Given the description of an element on the screen output the (x, y) to click on. 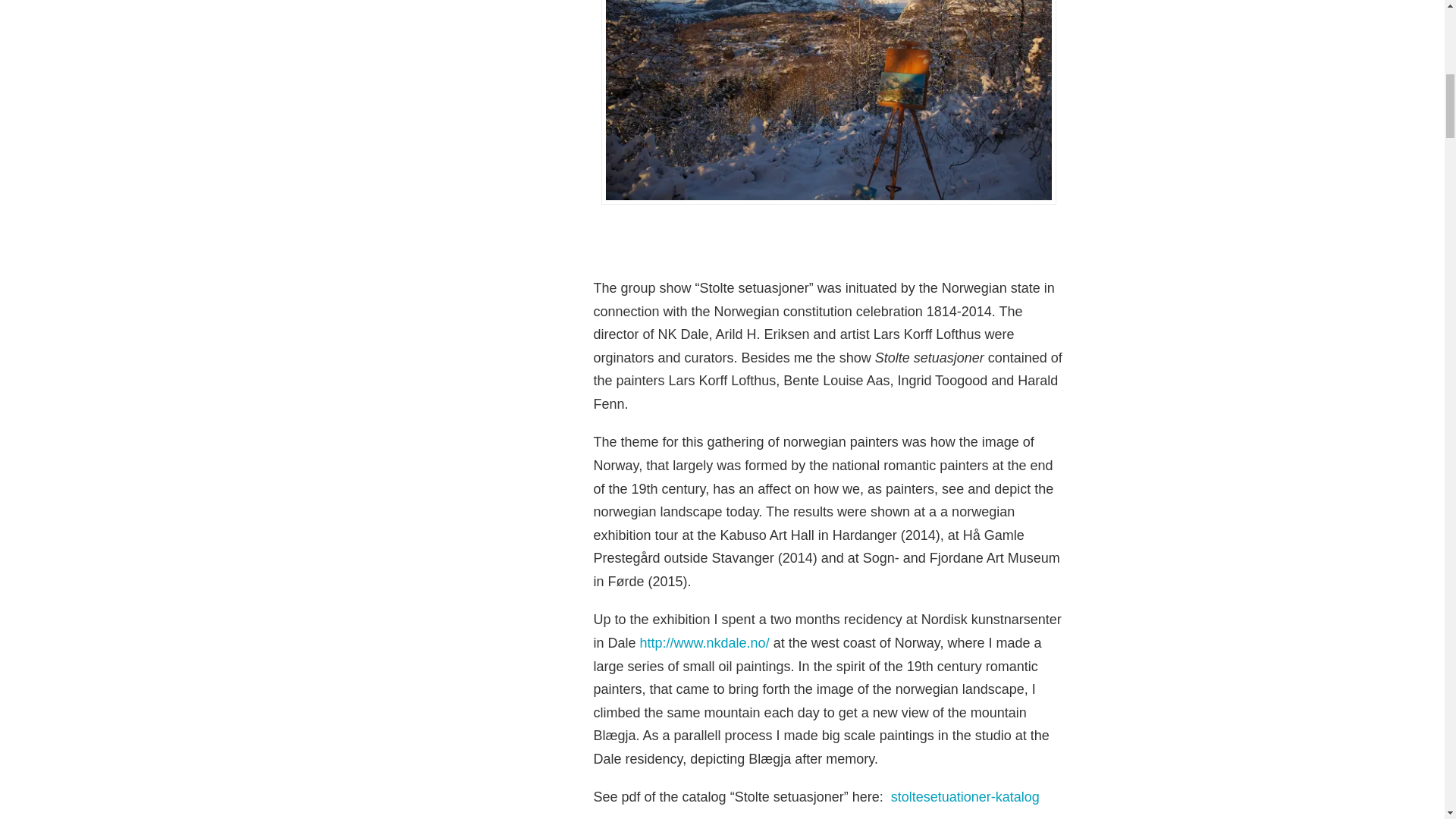
stoltesetuationer-katalog (965, 796)
